Given the description of an element on the screen output the (x, y) to click on. 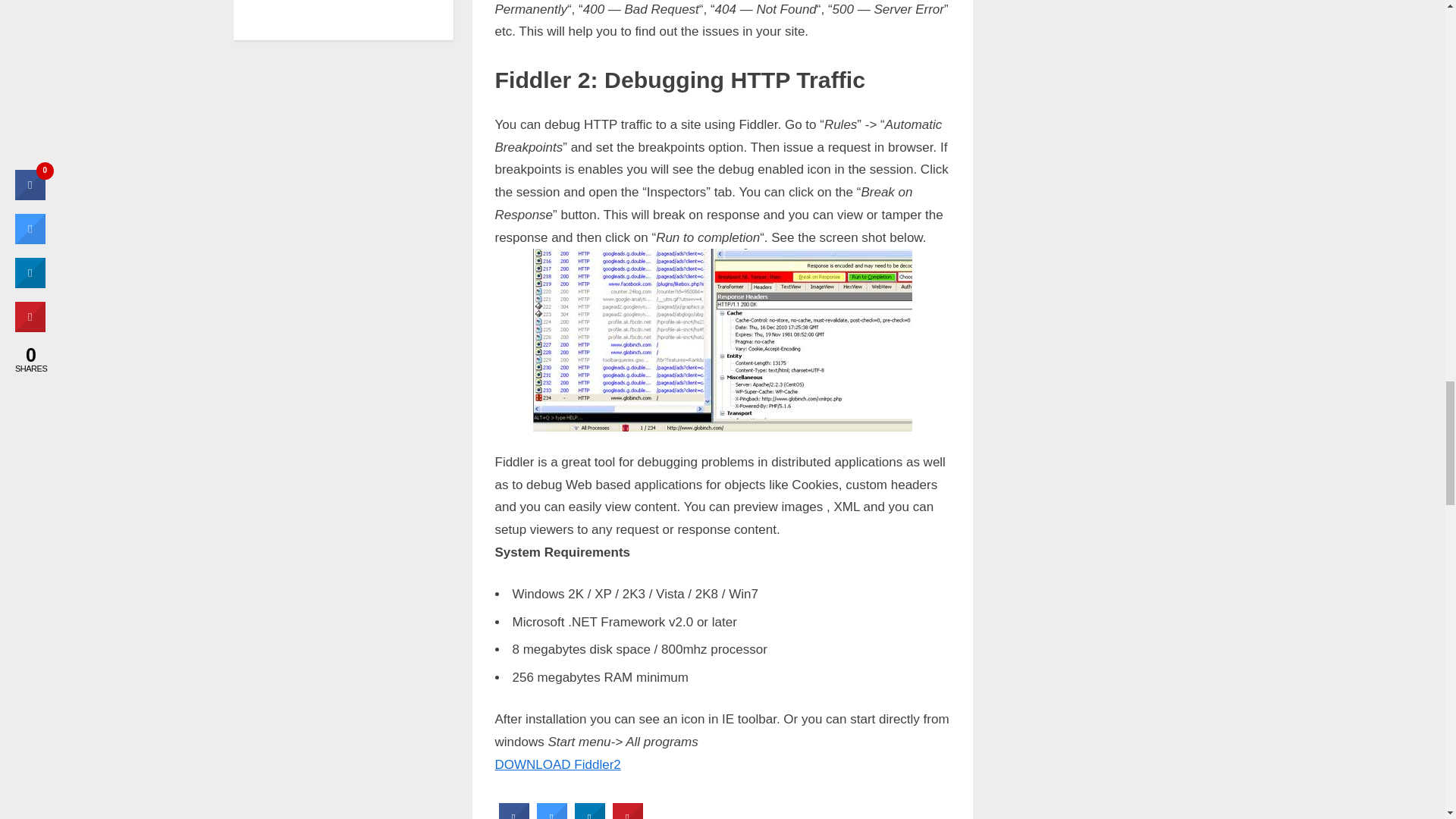
DOWNLOAD Fiddler2 (557, 764)
